Given the description of an element on the screen output the (x, y) to click on. 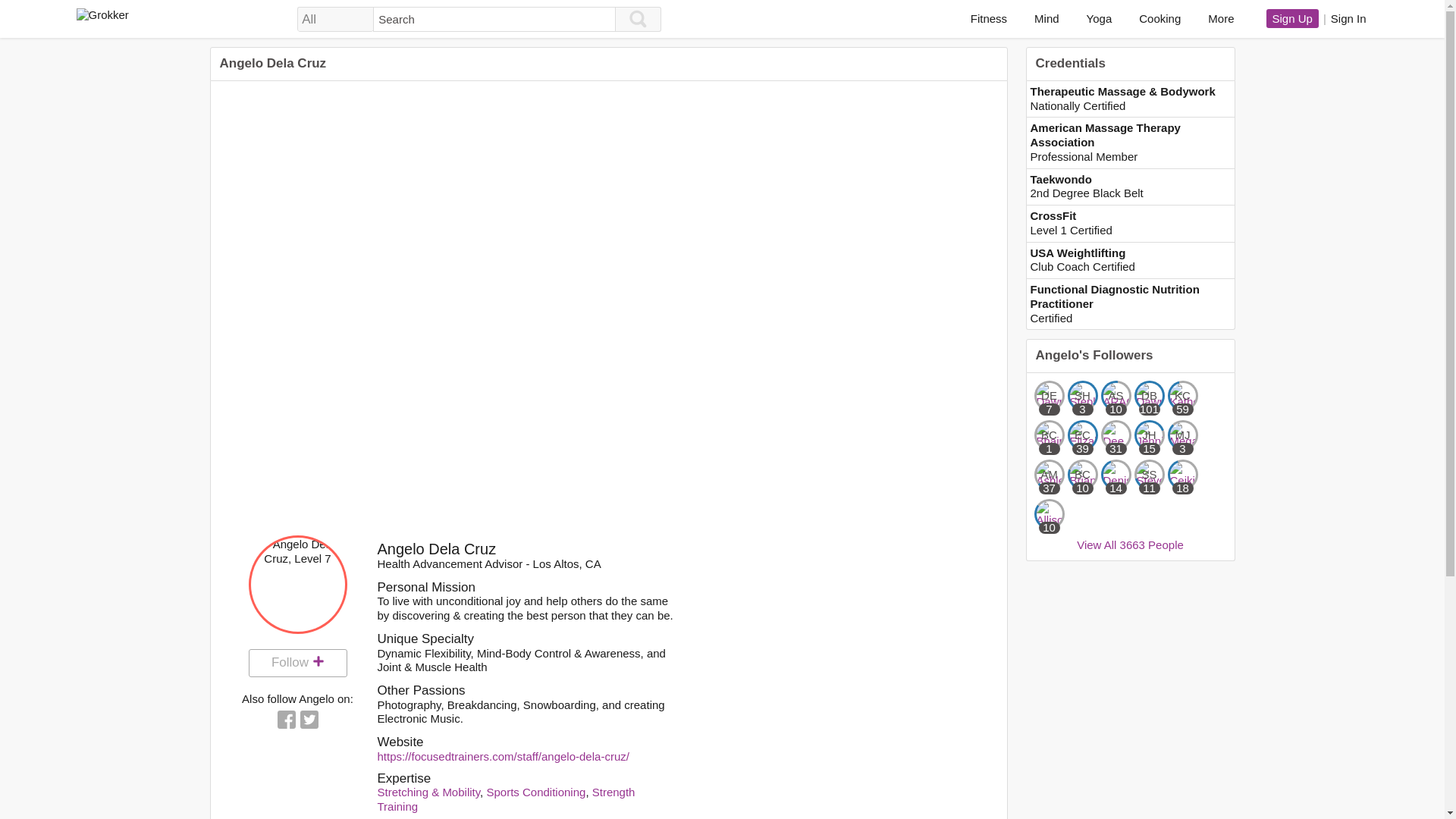
Bhairavi Chavan (1048, 435)
Stephanie Henry (1082, 395)
Dawn Bertone (1149, 395)
Dawn Emmrich (1048, 395)
Ashley Montilla (1048, 474)
q (493, 18)
Elizabeth Cerda (1082, 435)
Jennifer Howard (1149, 435)
Dee Horowitz (1115, 435)
Angelo Dela Cruz (297, 584)
